Given the description of an element on the screen output the (x, y) to click on. 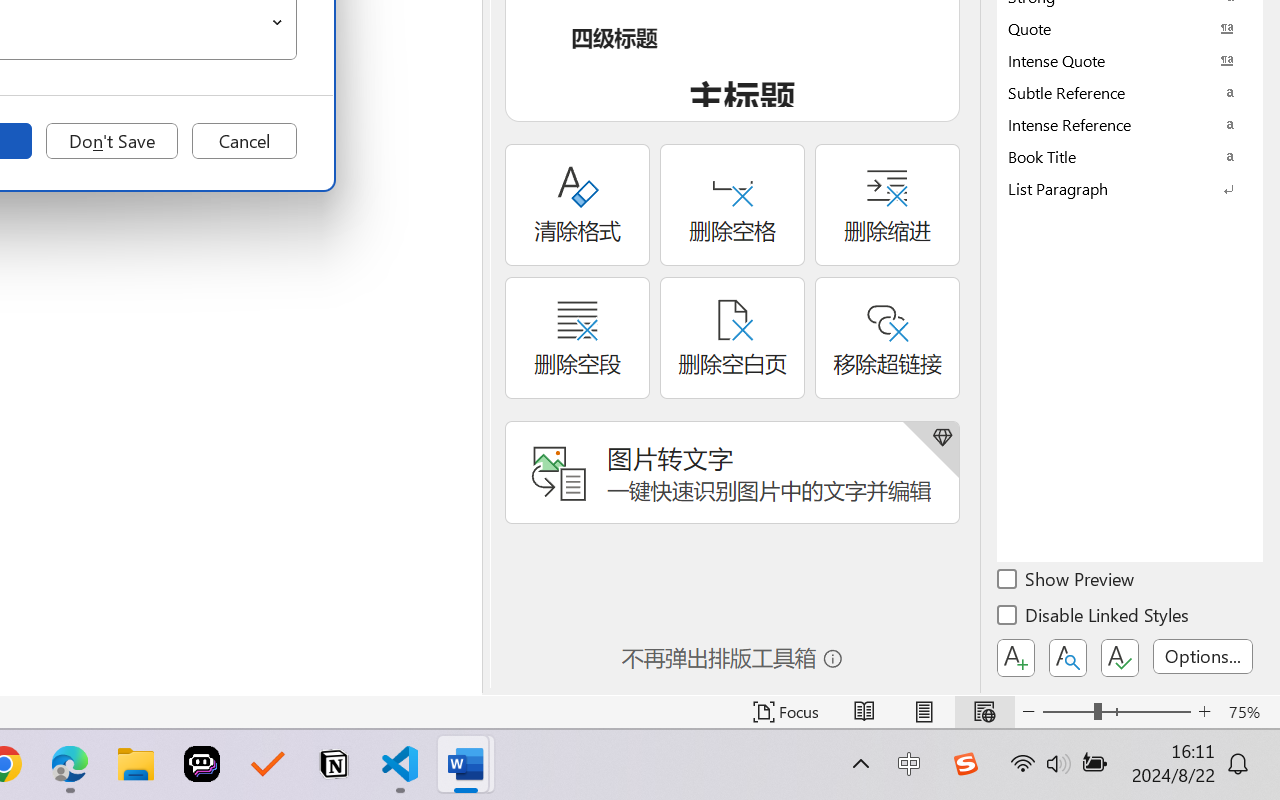
Book Title (1130, 156)
Subtle Reference (1130, 92)
Poe (201, 764)
Cancel (244, 141)
